Given the description of an element on the screen output the (x, y) to click on. 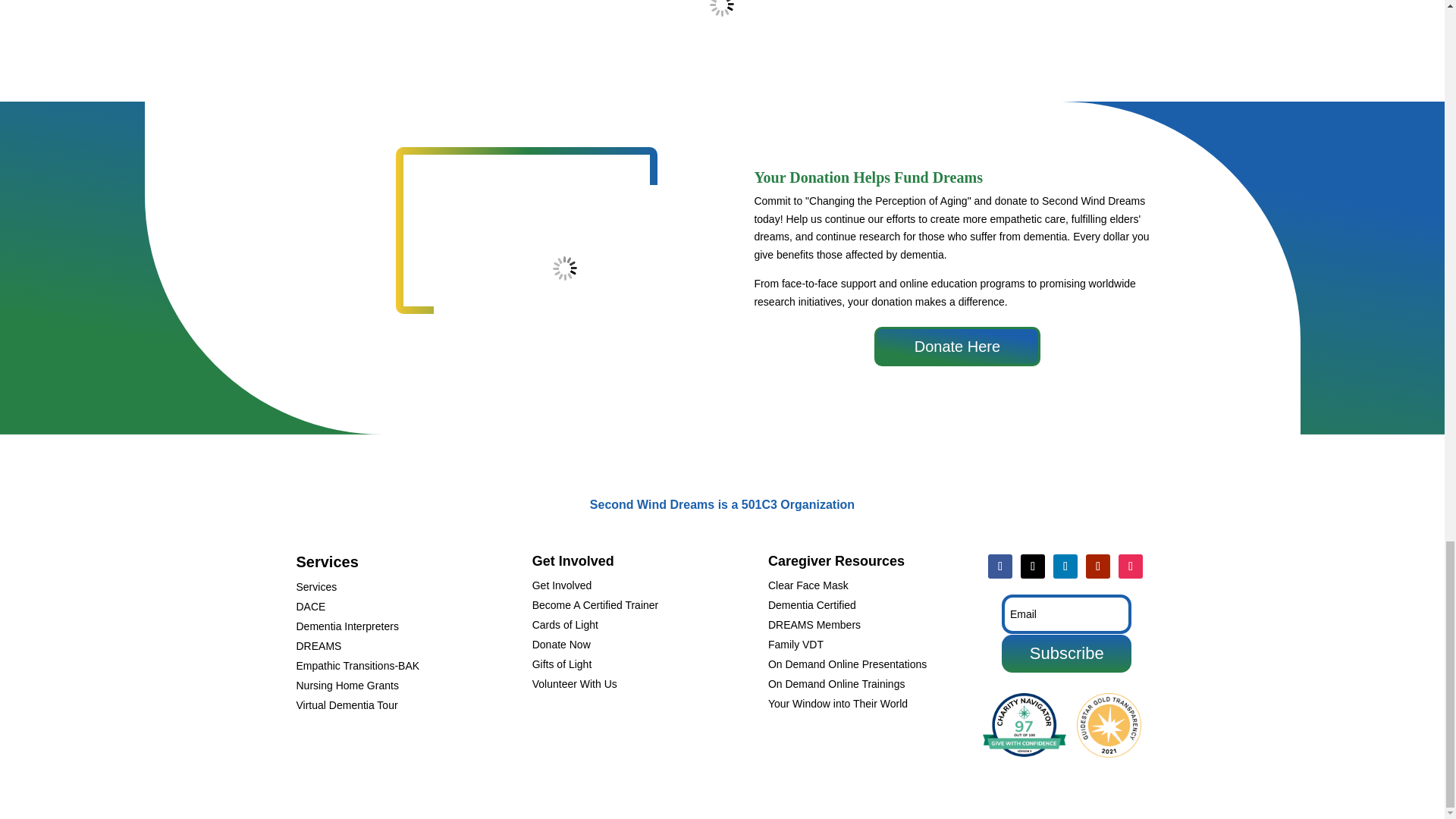
Follow on LinkedIn (1064, 566)
Screen Shot 2023-11-02 at 12.45.17 AM (721, 19)
Follow on X (1032, 566)
Follow on Facebook (999, 566)
Follow on Youtube (1097, 566)
Follow on Instagram (1130, 566)
